Given the description of an element on the screen output the (x, y) to click on. 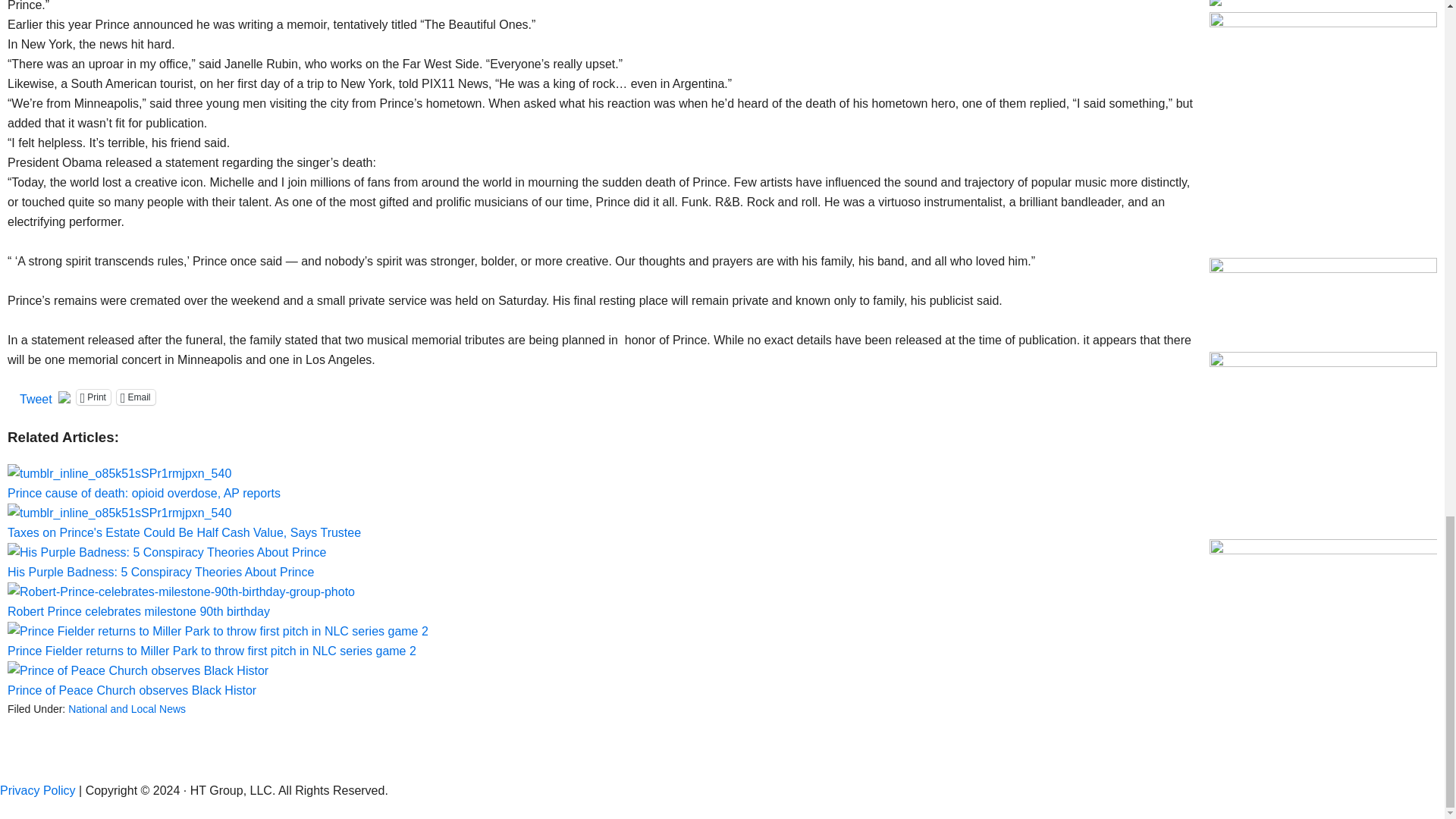
Print (93, 396)
Robert Prince celebrates milestone 90th birthday (181, 591)
Prince cause of death: opioid overdose, AP reports (600, 481)
Prince of Peace Church observes Black Histor (600, 678)
National and Local News (127, 708)
Prince cause of death: opioid overdose, AP reports (119, 474)
Email (135, 396)
Prince of Peace Church observes Black Histor (137, 670)
Robert Prince celebrates milestone 90th birthday (600, 600)
His Purple Badness: 5 Conspiracy Theories About Prince (166, 552)
His Purple Badness: 5 Conspiracy Theories About Prince (600, 560)
Click to email a link to a friend (135, 396)
